Given the description of an element on the screen output the (x, y) to click on. 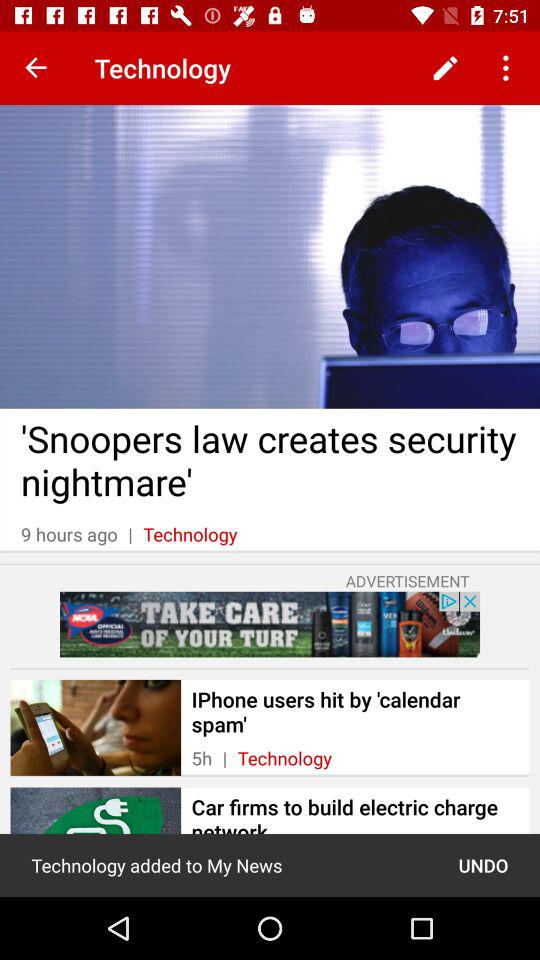
go back (36, 68)
